Given the description of an element on the screen output the (x, y) to click on. 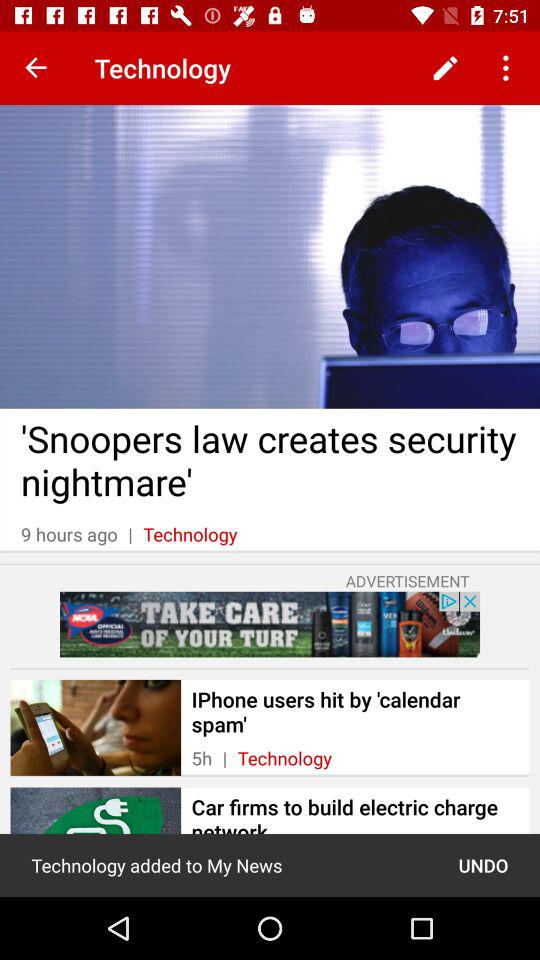
go back (36, 68)
